Given the description of an element on the screen output the (x, y) to click on. 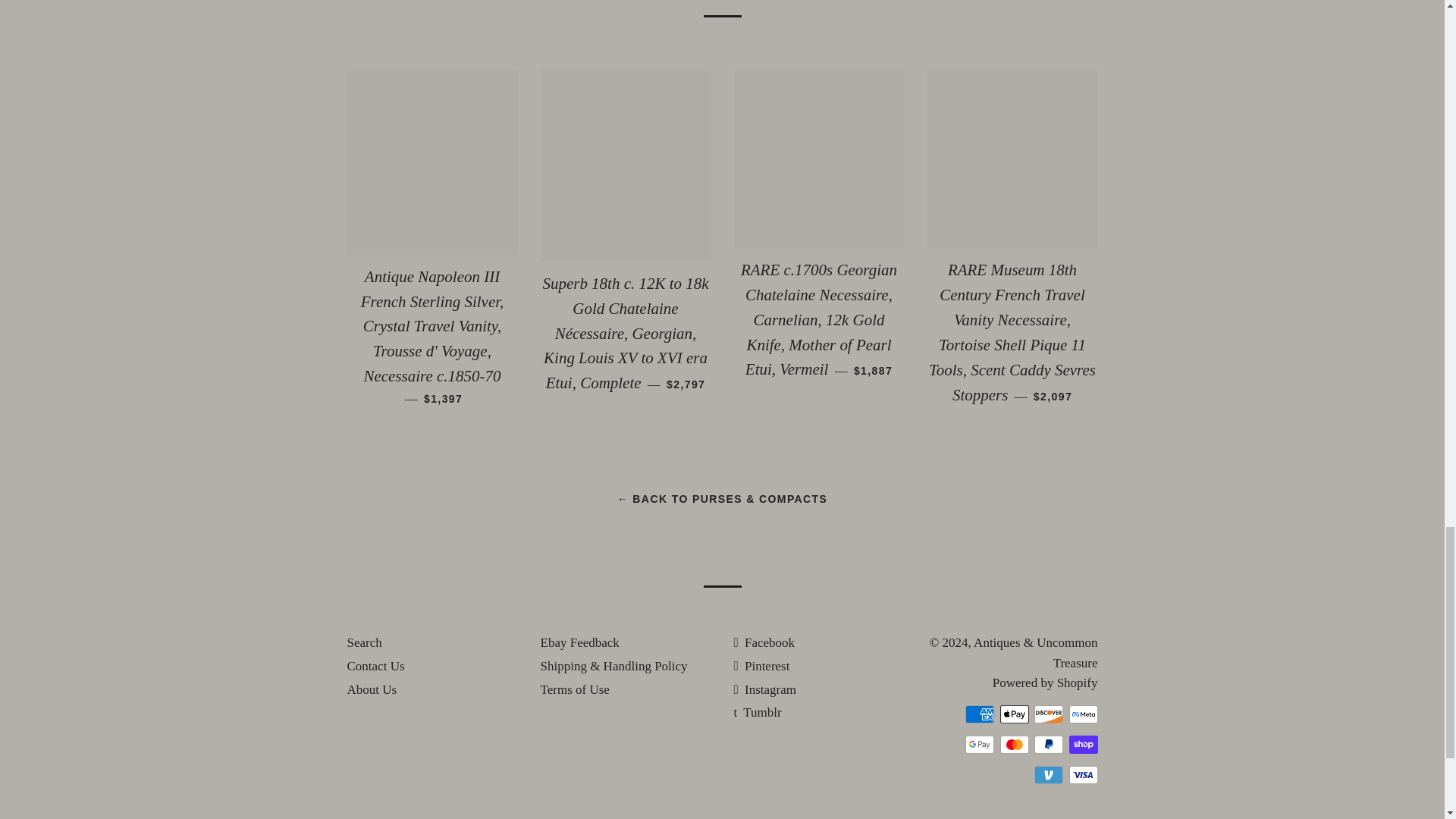
Discover (1047, 714)
Meta Pay (1082, 714)
Apple Pay (1012, 714)
Shop Pay (1082, 744)
Google Pay (979, 744)
Visa (1082, 774)
American Express (979, 714)
Mastercard (1012, 744)
Venmo (1047, 774)
PayPal (1047, 744)
